Given the description of an element on the screen output the (x, y) to click on. 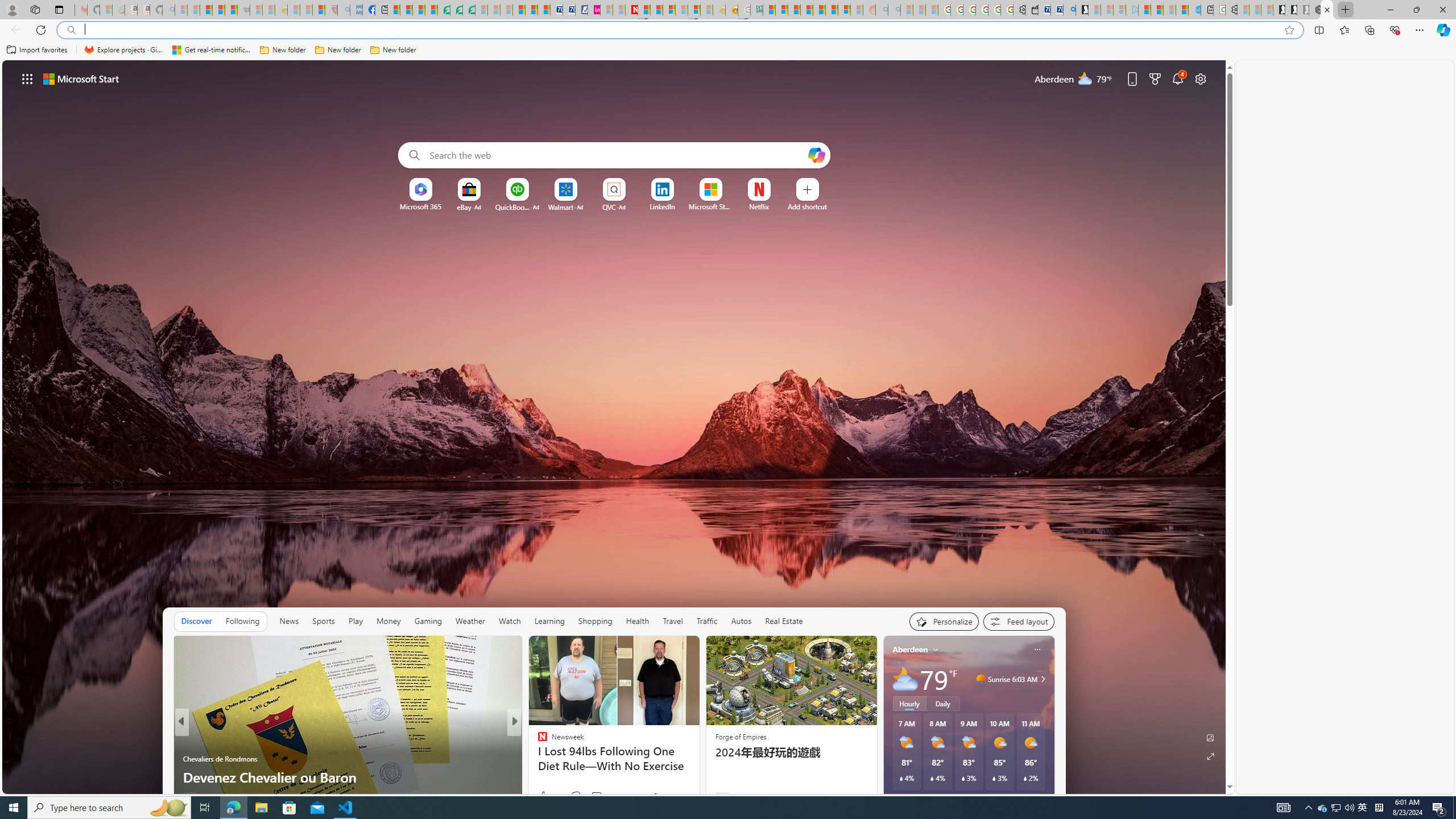
News (288, 621)
Nordace (545, 758)
Microsoft Word - consumer-privacy address update 2.2021 (468, 9)
68 Like (543, 796)
Recipes - MSN - Sleeping (293, 9)
Discover (196, 621)
Import favorites (36, 49)
Microsoft start (81, 78)
Money (388, 621)
Notifications (1177, 78)
Real Estate (783, 621)
Netflix (758, 206)
Microsoft Start - Sleeping (1169, 9)
